Given the description of an element on the screen output the (x, y) to click on. 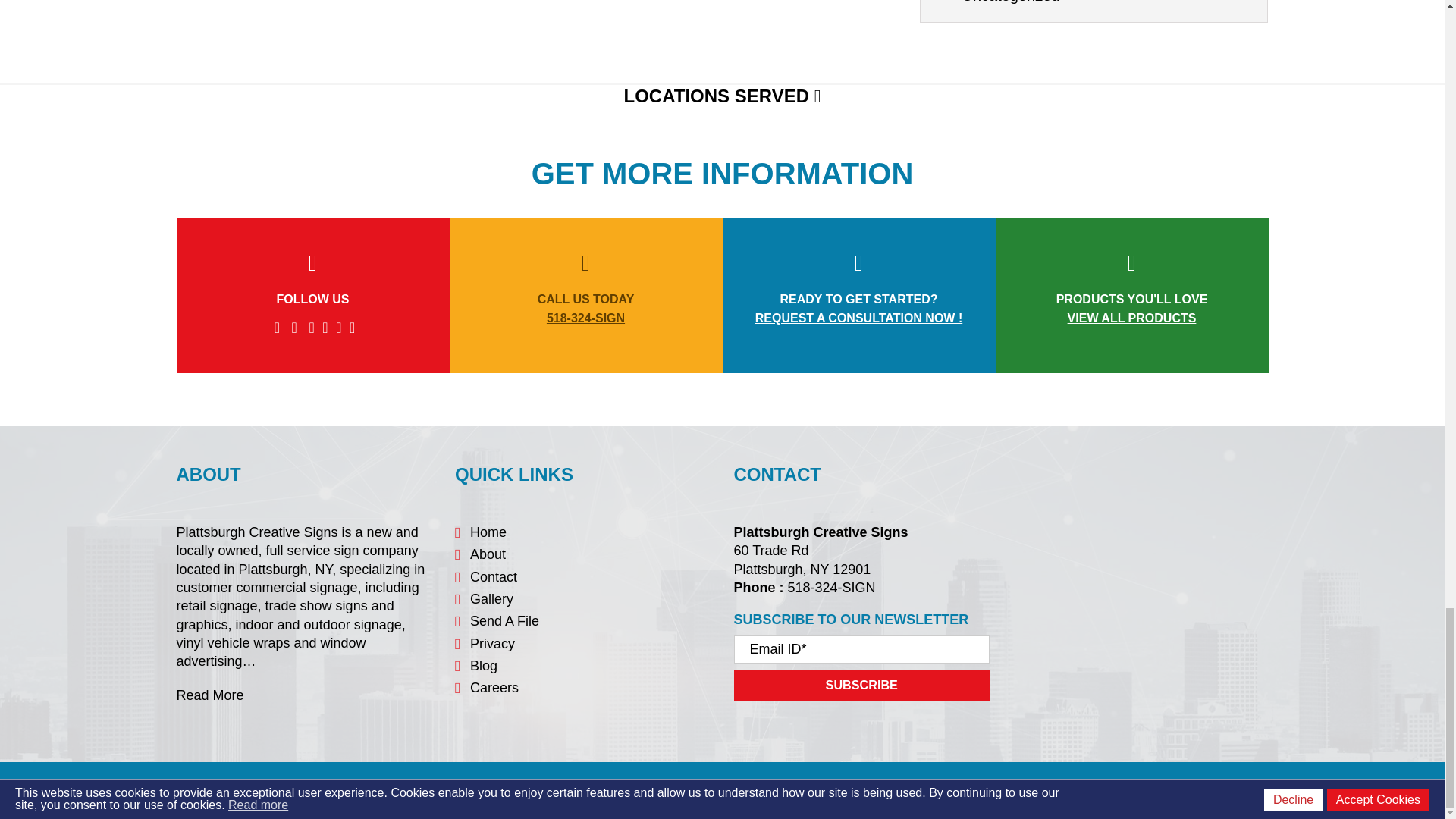
Contact us map (1139, 573)
Subscribe (861, 685)
